Given the description of an element on the screen output the (x, y) to click on. 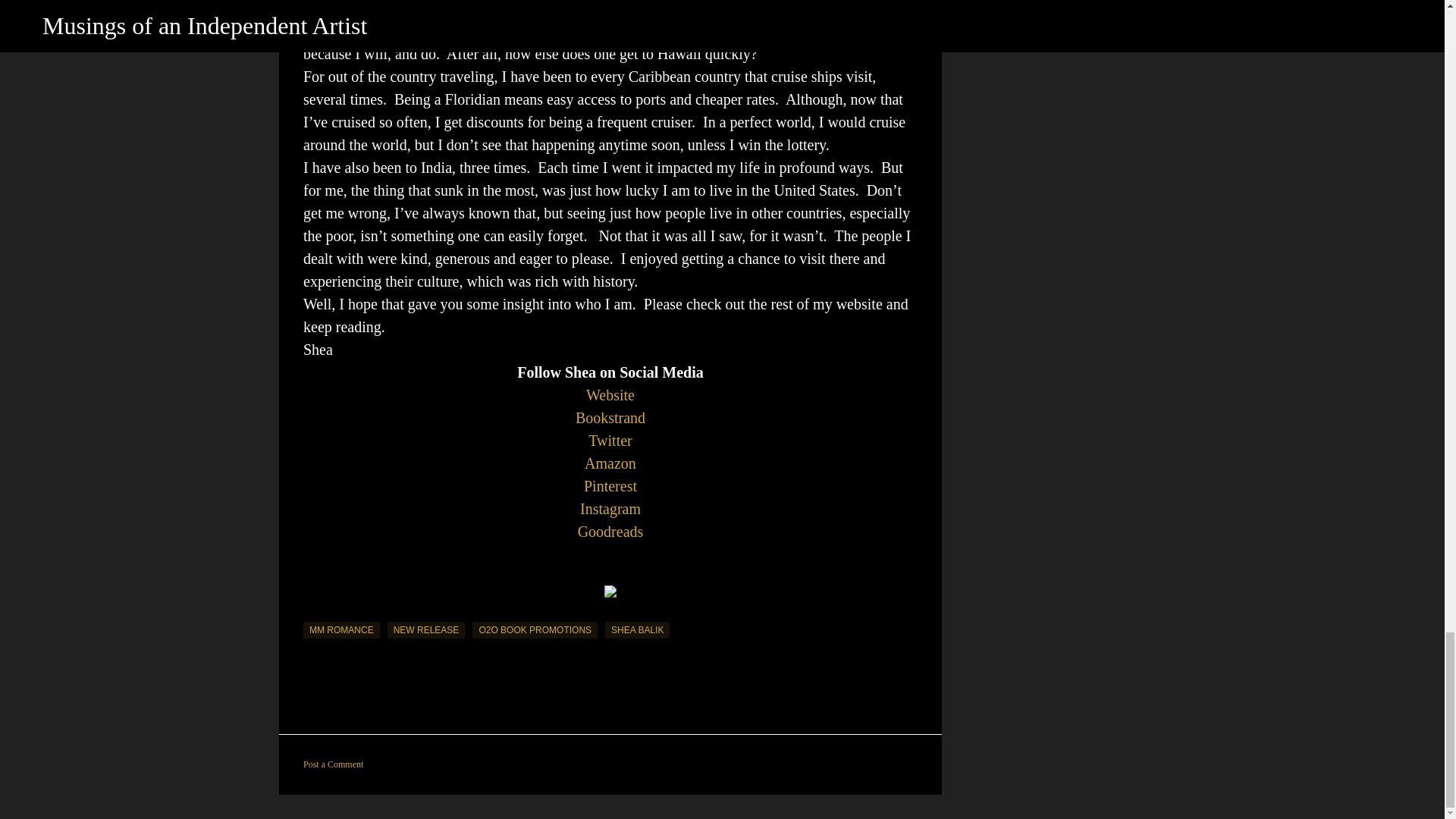
Amazon (610, 463)
Pinterest (610, 485)
Instagram (609, 508)
SHEA BALIK (637, 629)
NEW RELEASE (426, 629)
Website (610, 394)
Bookstrand (610, 417)
O2O BOOK PROMOTIONS (533, 629)
MM ROMANCE (341, 629)
Goodreads (610, 531)
Twitter (609, 440)
